Given the description of an element on the screen output the (x, y) to click on. 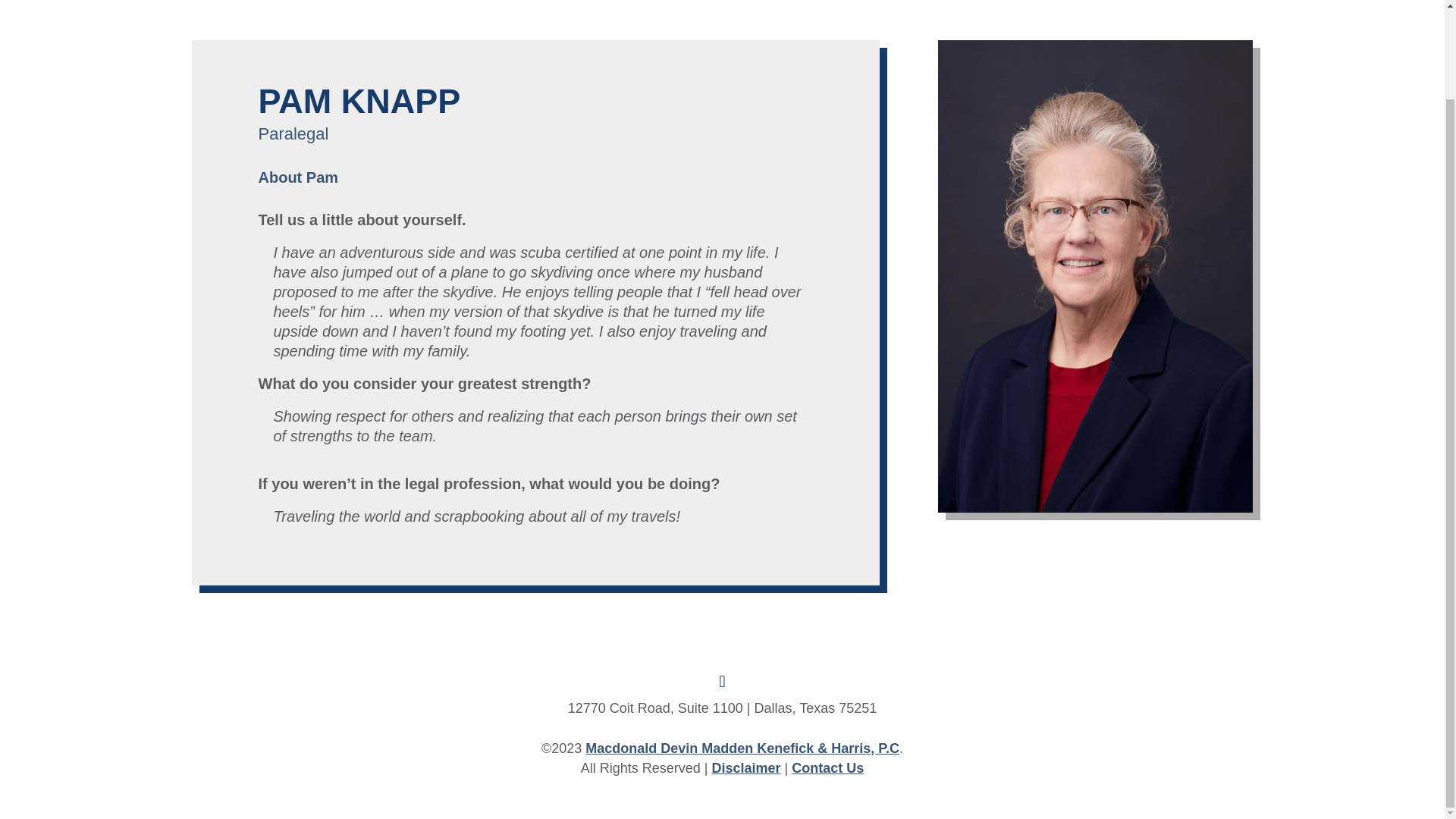
Follow on LinkedIn (721, 681)
